Given the description of an element on the screen output the (x, y) to click on. 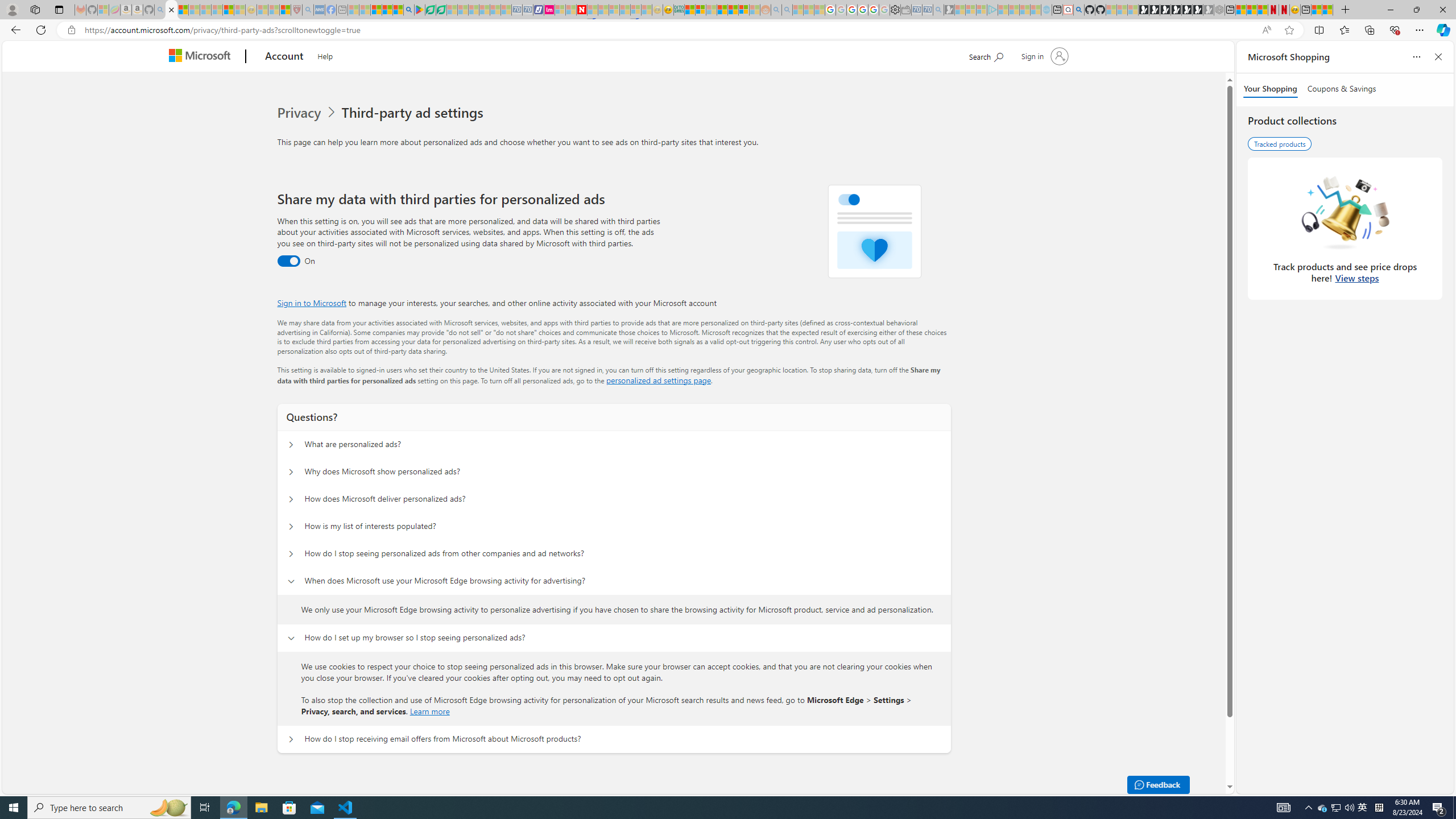
Microsoft Start Gaming - Sleeping (949, 9)
Wallet - Sleeping (905, 9)
Trusted Community Engagement and Contributions | Guidelines (592, 9)
